Given the description of an element on the screen output the (x, y) to click on. 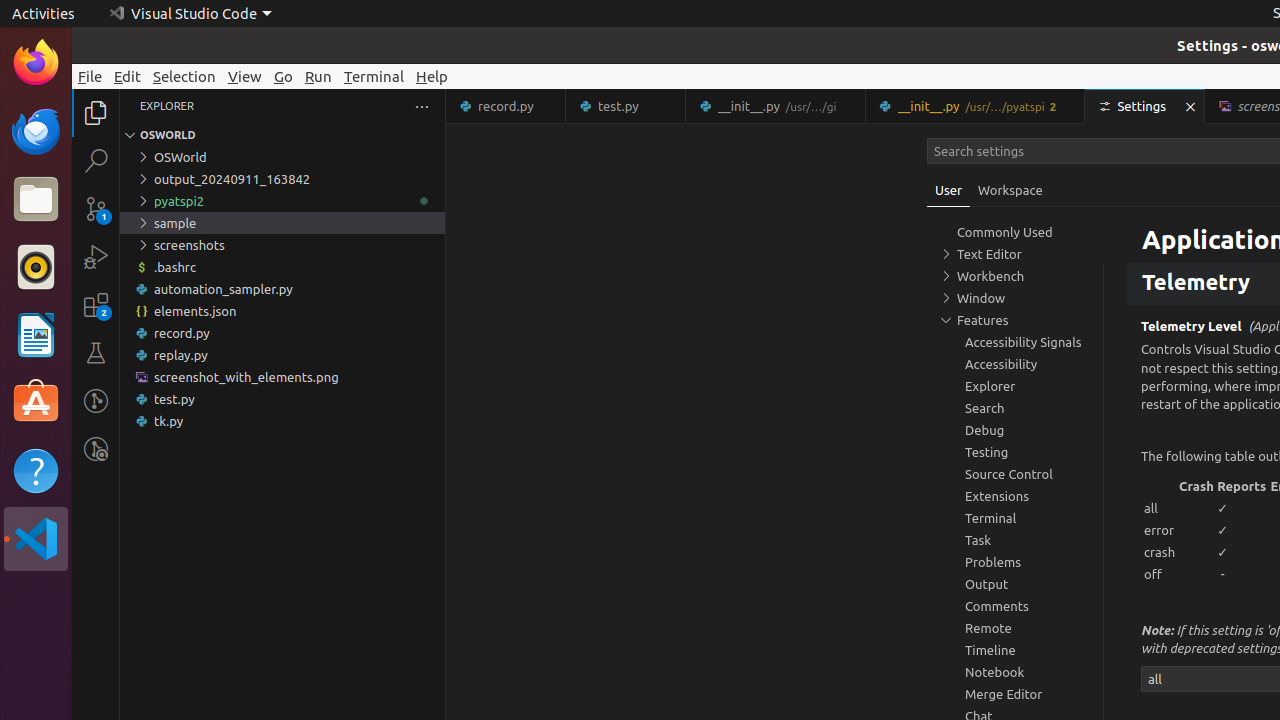
Settings Element type: page-tab (1145, 106)
Workbench, group Element type: tree-item (1015, 276)
Task, group Element type: tree-item (1015, 540)
error Element type: table-cell (1160, 530)
.bashrc Element type: tree-item (282, 267)
